Given the description of an element on the screen output the (x, y) to click on. 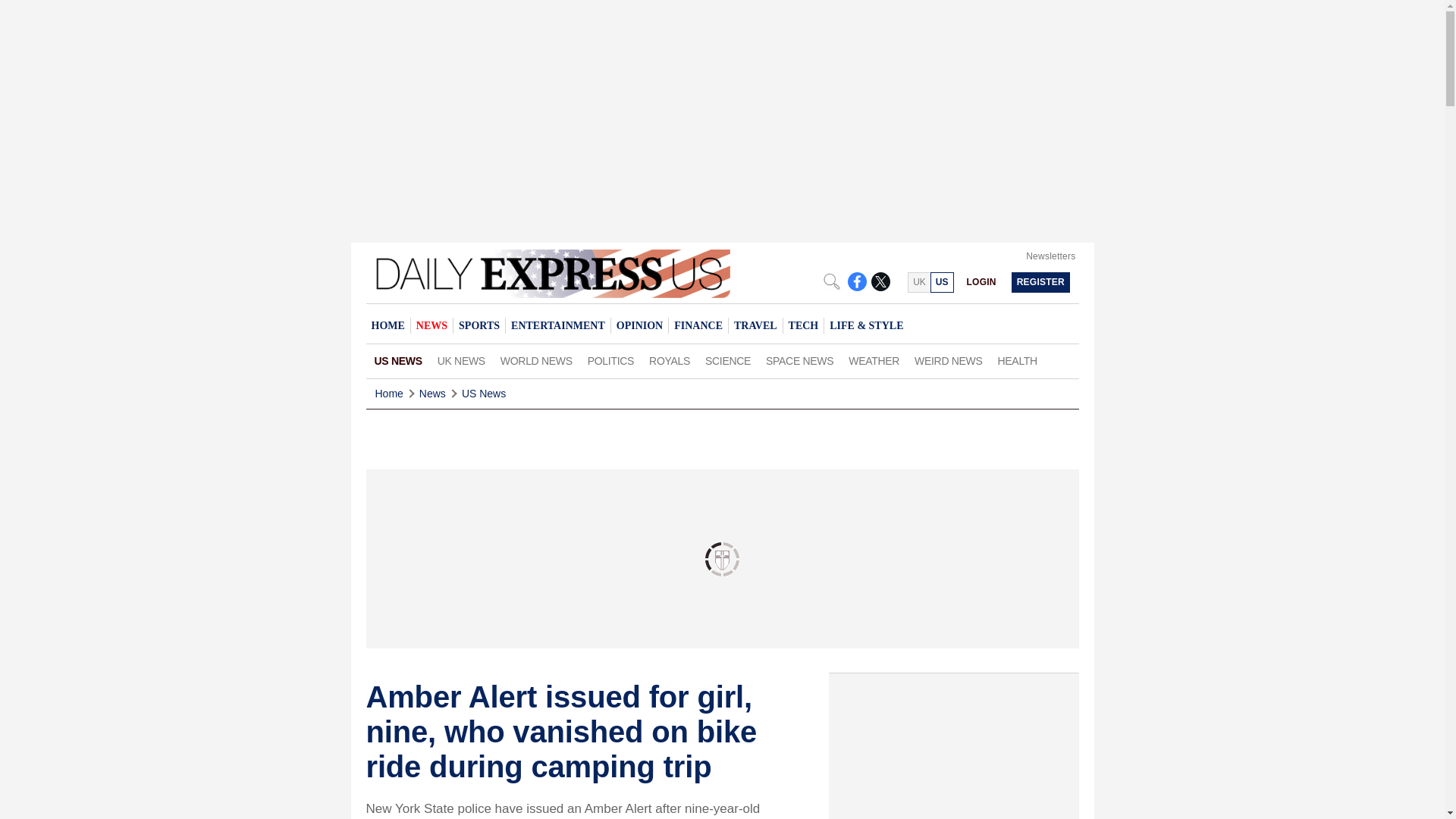
SCIENCE (727, 361)
SPORTS (478, 325)
Follow us on Twitter (879, 281)
FINANCE (698, 325)
US News (483, 393)
UK (918, 281)
News (432, 393)
WEIRD NEWS (948, 361)
US (941, 281)
ROYALS (669, 361)
POLITICS (610, 361)
US NEWS (397, 361)
HOME (387, 325)
NEWS (431, 325)
WORLD NEWS (536, 361)
